Given the description of an element on the screen output the (x, y) to click on. 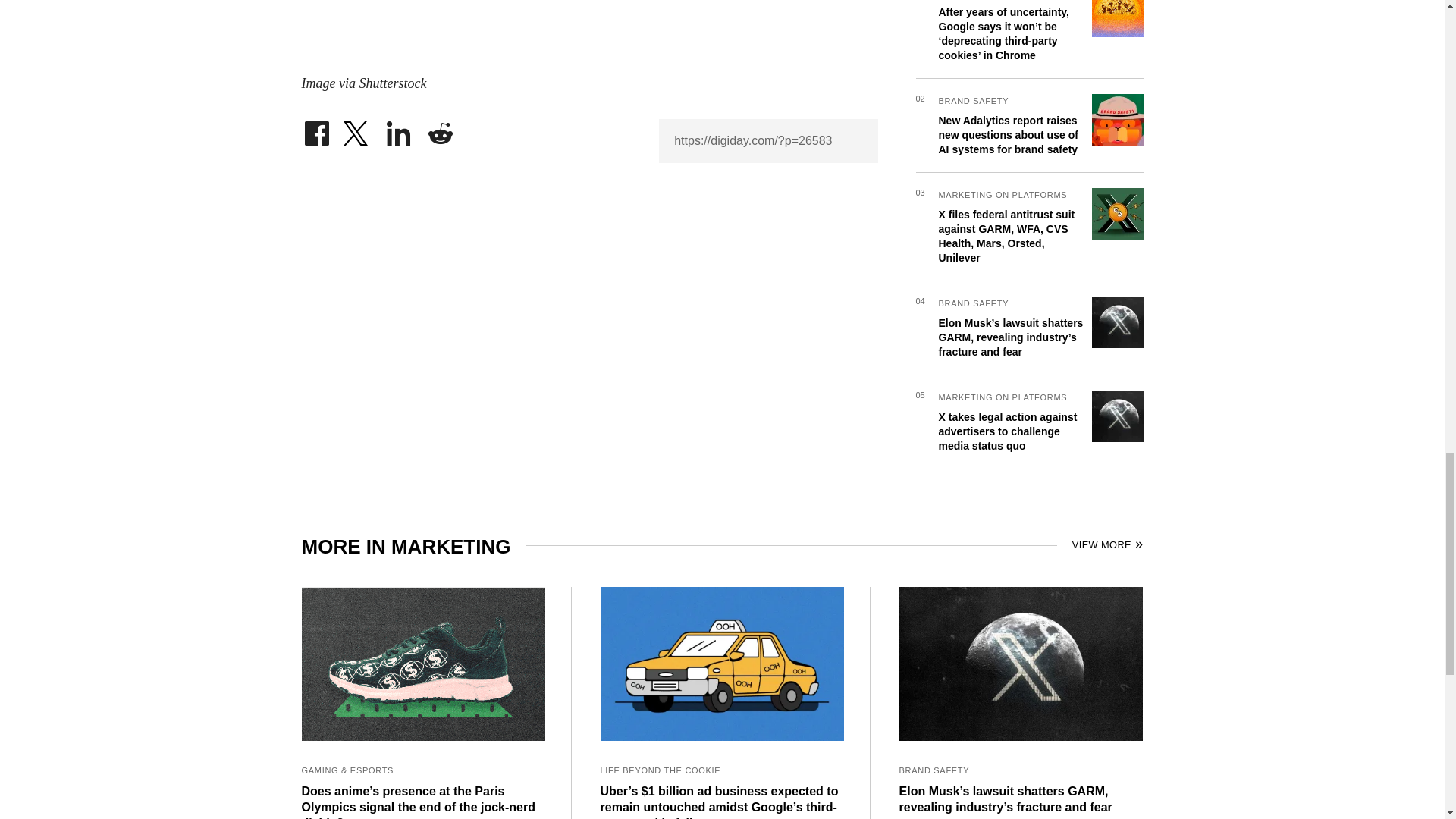
Share on Facebook (316, 129)
Share on Twitter (357, 129)
Share on Reddit (440, 129)
Share on LinkedIn (398, 129)
